Given the description of an element on the screen output the (x, y) to click on. 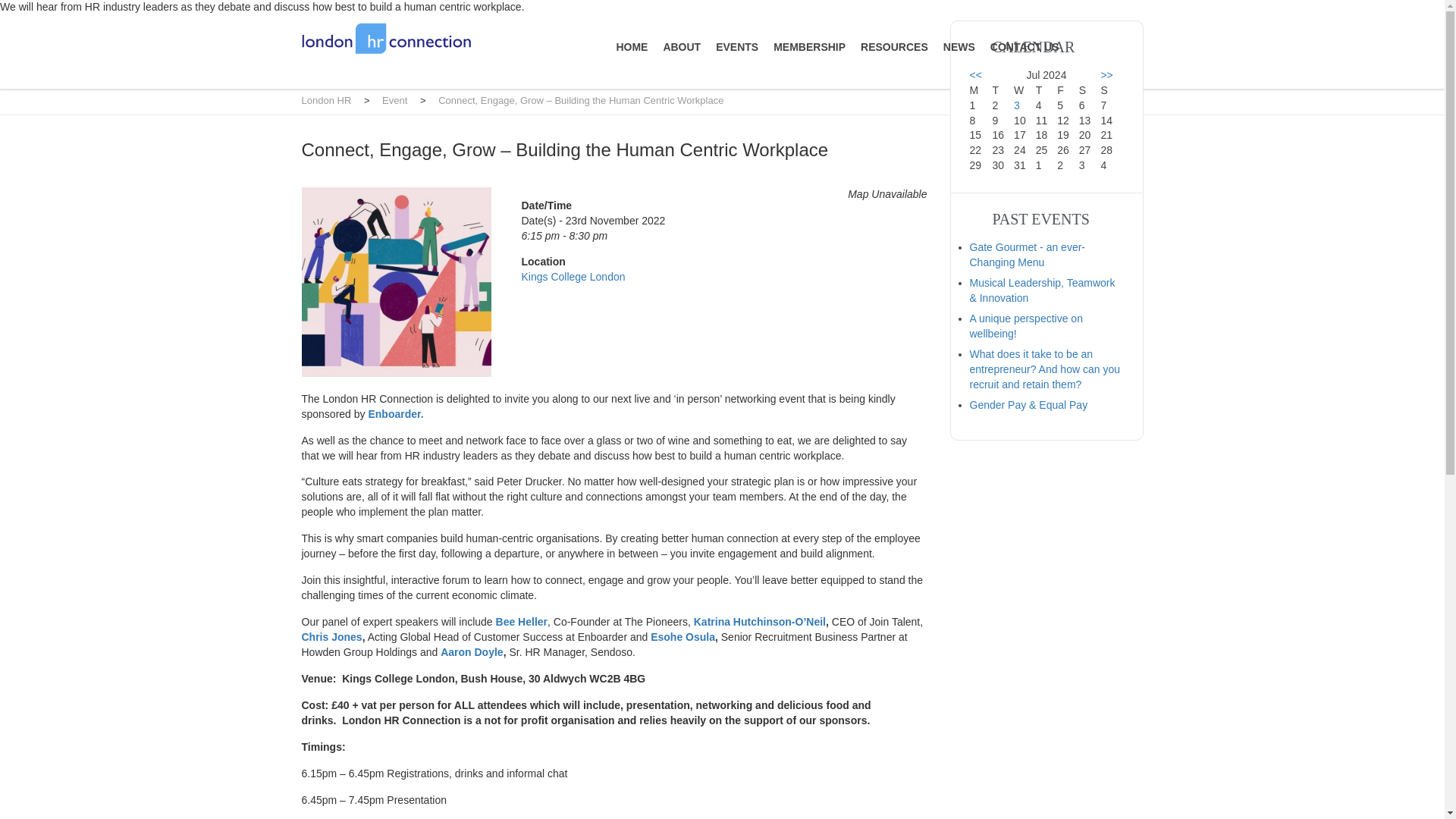
HOME (631, 46)
Kings College London (573, 276)
RESOURCES (894, 46)
Esohe Osula (682, 636)
CONTACT US (1024, 46)
EVENTS (737, 46)
Enboarder. (395, 413)
Bee Heller (521, 621)
Go to Event. (394, 100)
ABOUT (681, 46)
Go to London HR. (326, 100)
London HR (326, 100)
Chris Jones (331, 636)
MEMBERSHIP (809, 46)
NEWS (959, 46)
